Given the description of an element on the screen output the (x, y) to click on. 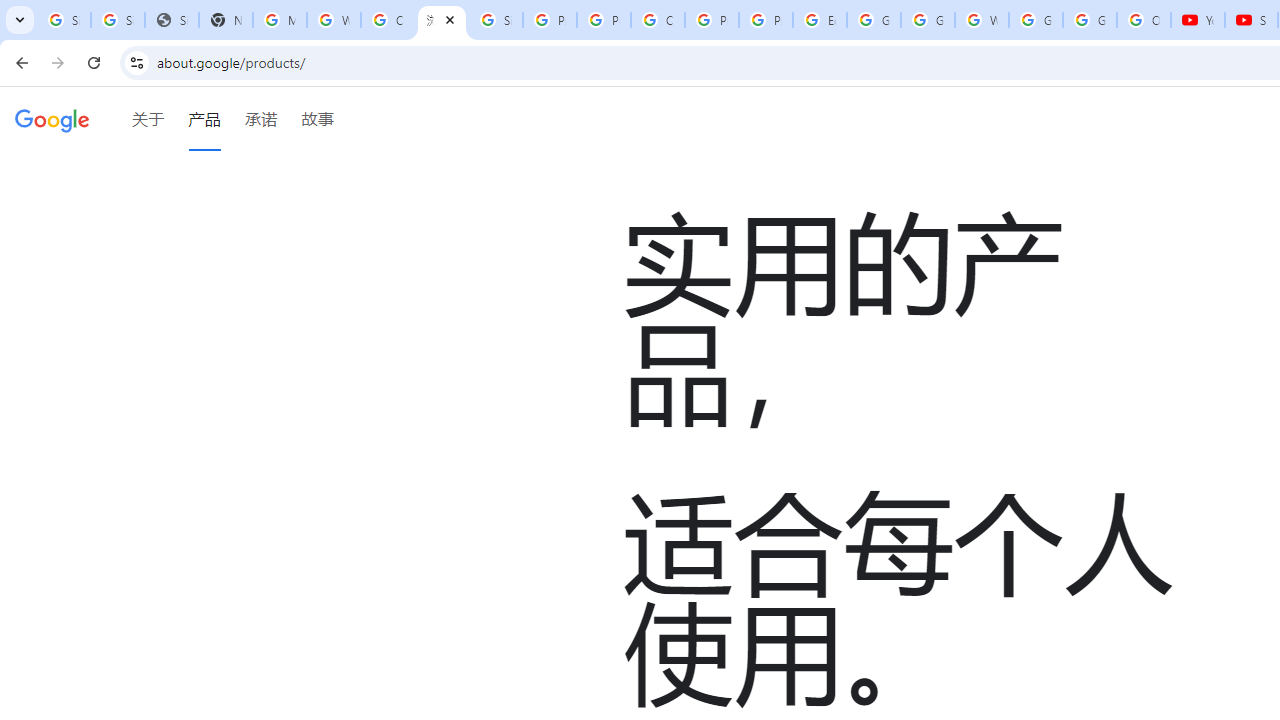
Sign in - Google Accounts (117, 20)
Welcome to My Activity (981, 20)
Create your Google Account (657, 20)
YouTube (1197, 20)
Create your Google Account (387, 20)
Google Slides: Sign-in (874, 20)
Sign in - Google Accounts (495, 20)
